Given the description of an element on the screen output the (x, y) to click on. 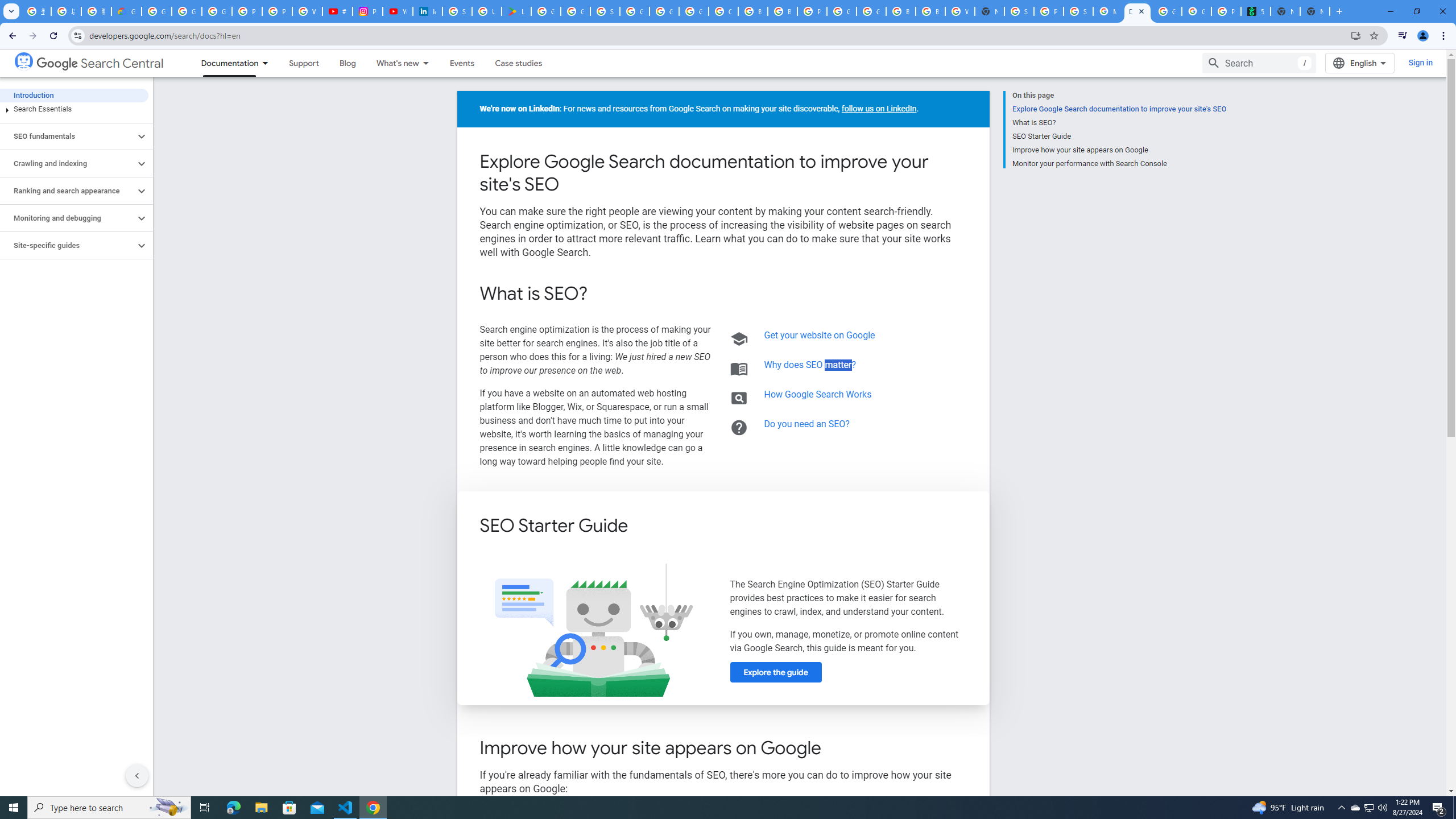
Last Shelter: Survival - Apps on Google Play (515, 11)
Get your website on Google (819, 335)
Google Cloud Platform (664, 11)
Documentation, selected (224, 62)
Case studies (518, 62)
Sign in - Google Accounts (1018, 11)
New Tab (1314, 11)
Crawling and indexing (67, 163)
Blog (347, 62)
